Given the description of an element on the screen output the (x, y) to click on. 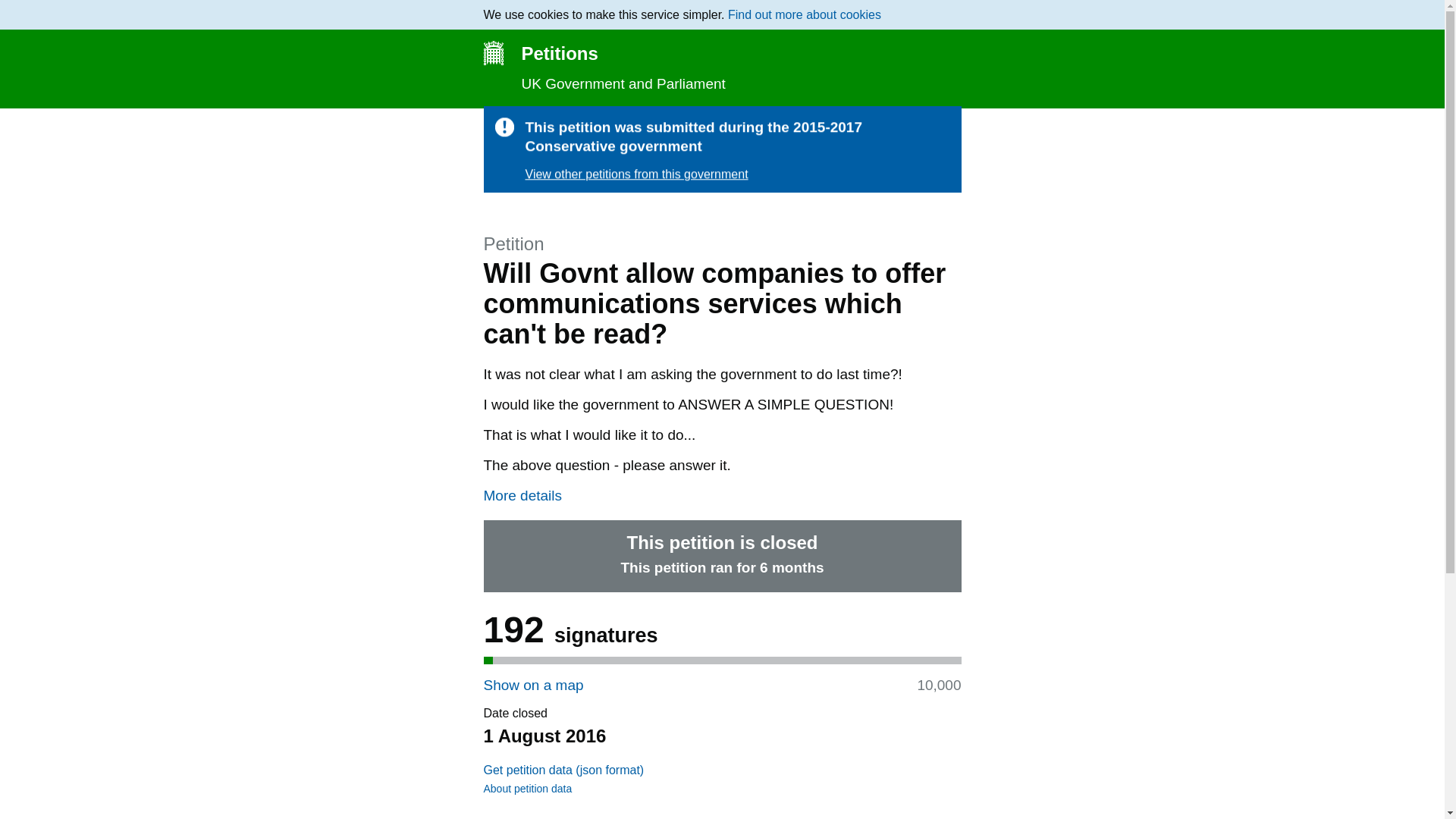
Petitions (721, 53)
Go to the petitions homepage (721, 53)
Find out more about cookies (804, 14)
View other petitions from this government (636, 174)
Show on a map (533, 684)
